Given the description of an element on the screen output the (x, y) to click on. 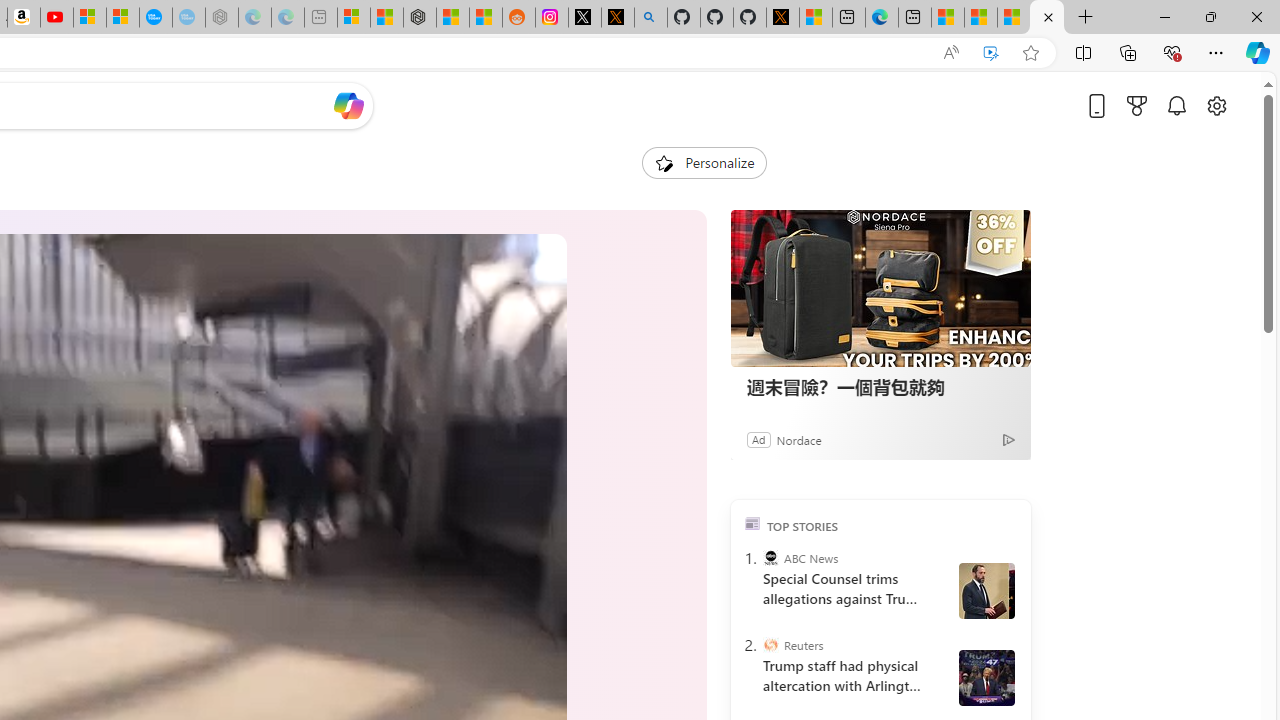
Nordace - Duffels (420, 17)
Log in to X / X (585, 17)
Shanghai, China Weather trends | Microsoft Weather (485, 17)
